Given the description of an element on the screen output the (x, y) to click on. 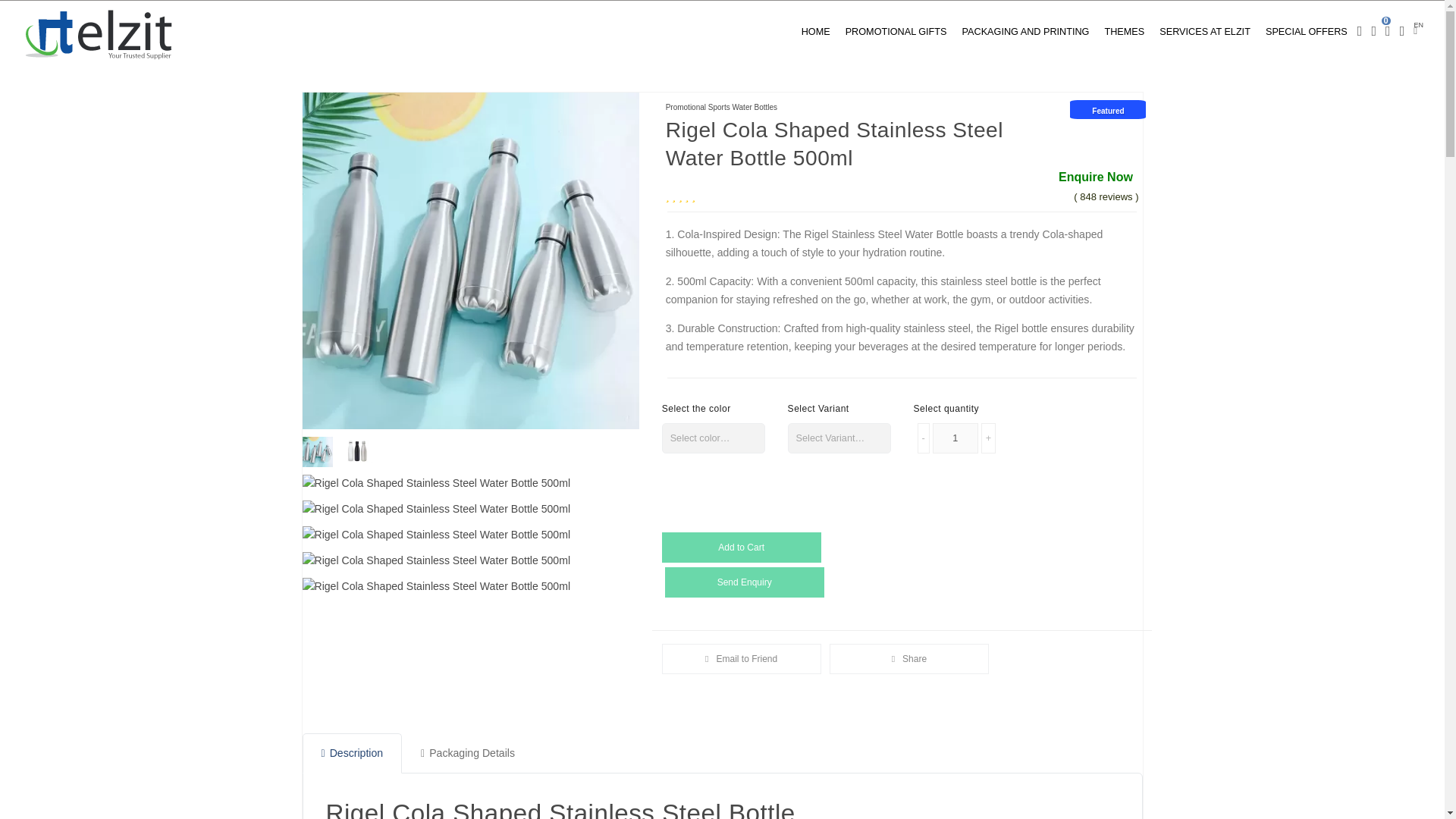
0 (1387, 31)
1 (955, 438)
Rigel   Cola Shaped  Stainless Steel Water Bottle 500ml (439, 479)
- (923, 438)
Rigel   Cola Shaped  Stainless Steel Water Bottle 500ml (439, 505)
HOME (815, 31)
Rigel   Cola Shaped  Stainless Steel Water Bottle 500ml (439, 557)
Elzit Group - Promotional Gifts Manufacturer (98, 33)
Rigel   Cola Shaped  Stainless Steel Water Bottle 500ml (470, 260)
Rigel   Cola Shaped  Stainless Steel Water Bottle 500ml (361, 447)
Rigel   Cola Shaped  Stainless Steel Water Bottle 500ml (320, 447)
PROMOTIONAL GIFTS (896, 31)
Send Enquiry (744, 582)
Rigel   Cola Shaped  Stainless Steel Water Bottle 500ml (439, 531)
